Given the description of an element on the screen output the (x, y) to click on. 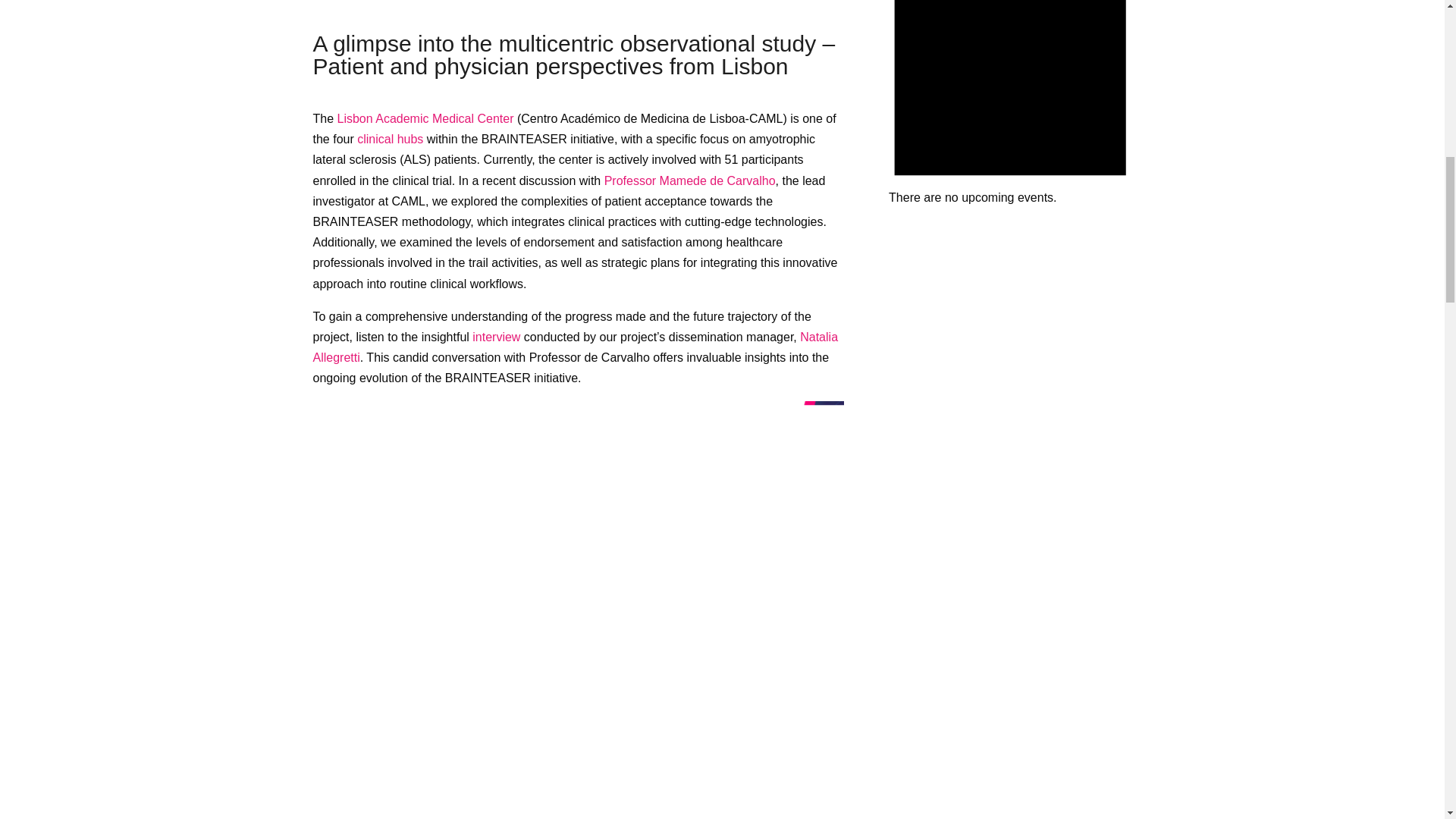
CALM Lisbon (578, 5)
Natalia Allegretti (575, 346)
Lisbon Academic Medical Center (425, 118)
interview (497, 336)
clinical hubs (389, 138)
Professor Mamede de Carvalho (690, 180)
